Given the description of an element on the screen output the (x, y) to click on. 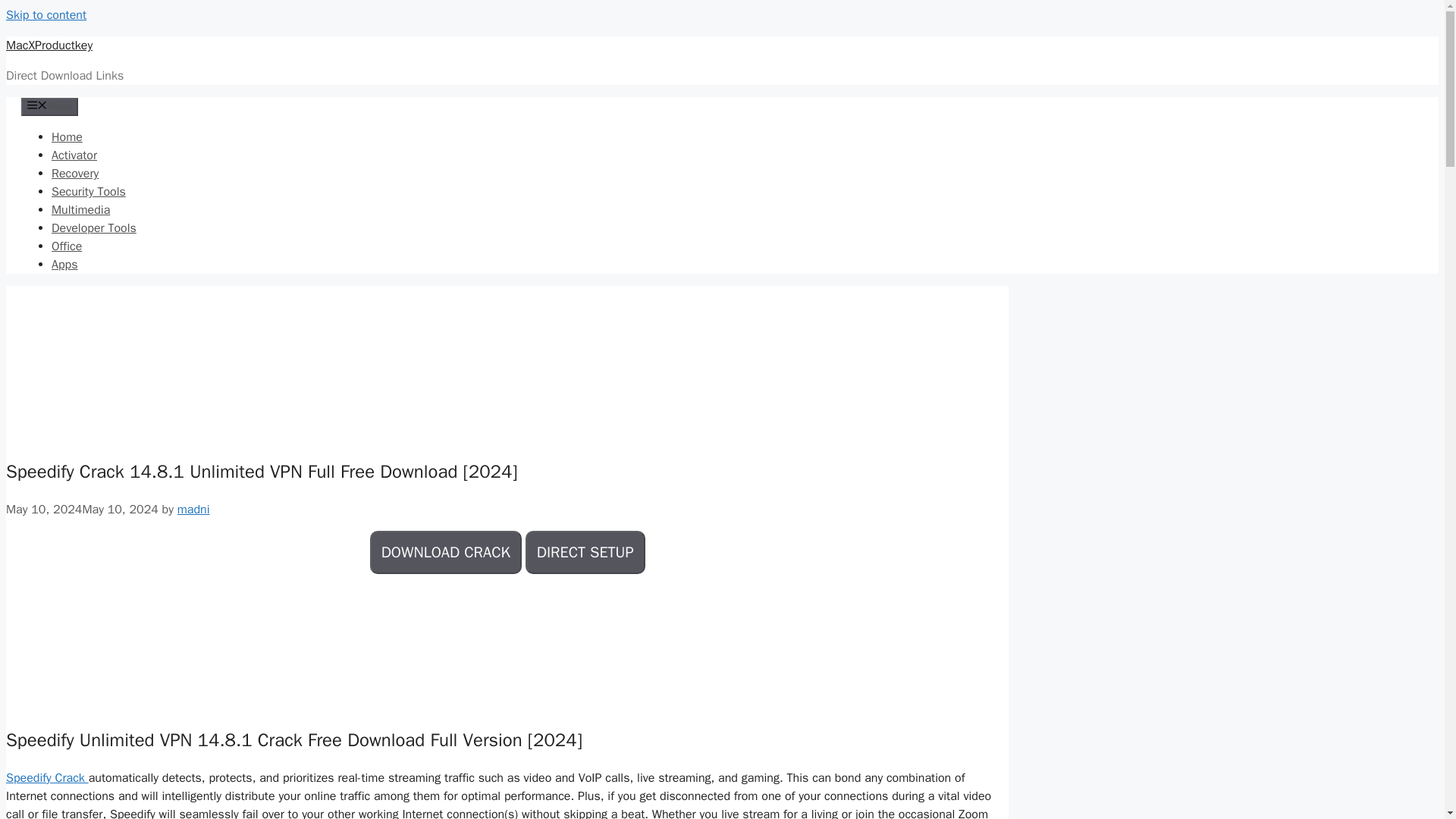
MacXProductkey (49, 45)
Office (65, 246)
Apps (64, 264)
Security Tools (87, 191)
Skip to content (45, 14)
Home (66, 136)
DIRECT SETUP (585, 552)
Activator (73, 155)
Recovery (74, 173)
View all posts by madni (193, 509)
DOWNLOAD CRACK (445, 552)
Developer Tools (93, 227)
Multimedia (80, 209)
Menu (49, 106)
DOWNLOAD CRACK DIRECT SETUP (507, 553)
